Given the description of an element on the screen output the (x, y) to click on. 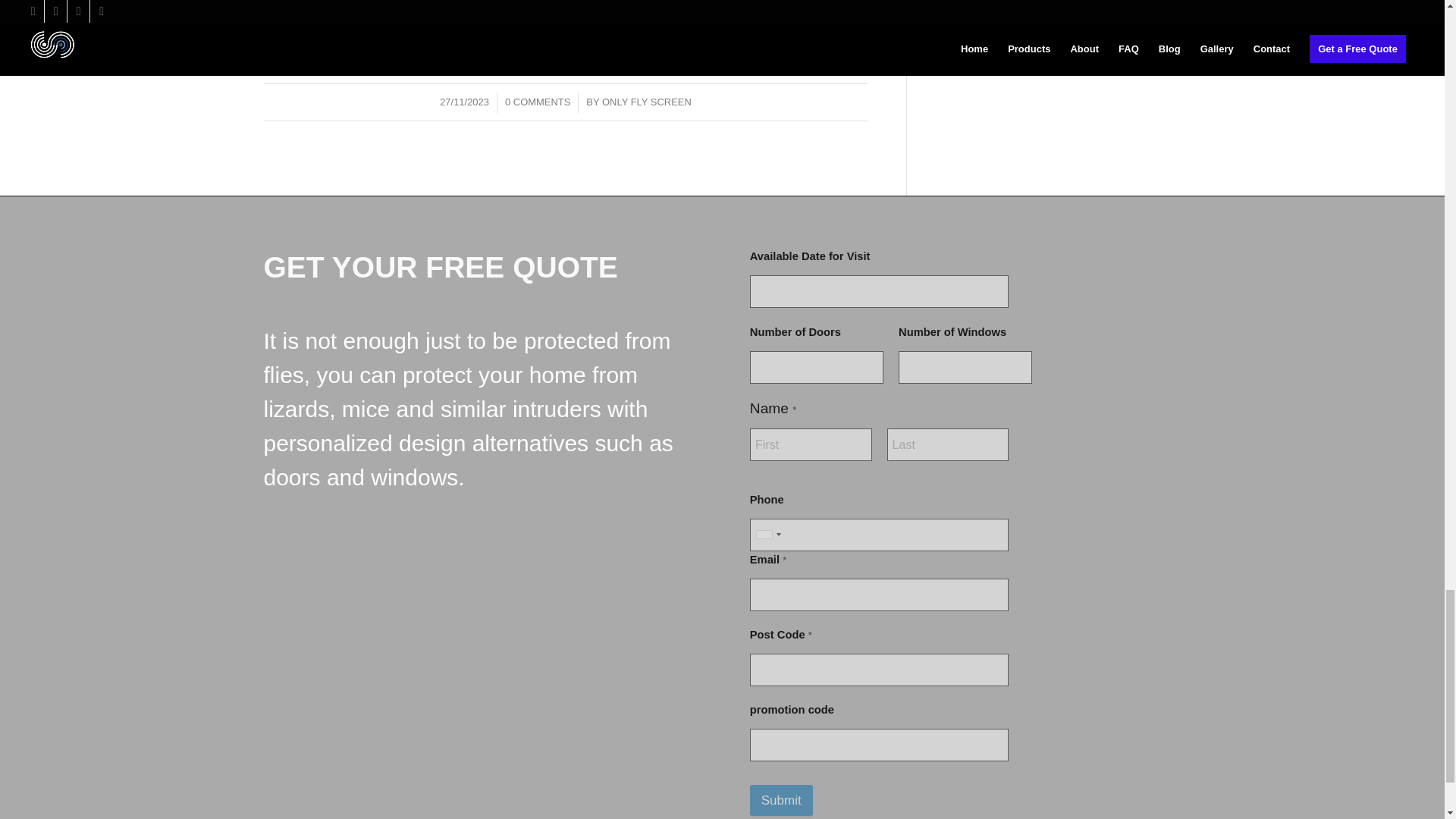
0 COMMENTS (537, 101)
Posts by Only Fly Screen (646, 101)
ONLY FLY SCREEN (646, 101)
